Given the description of an element on the screen output the (x, y) to click on. 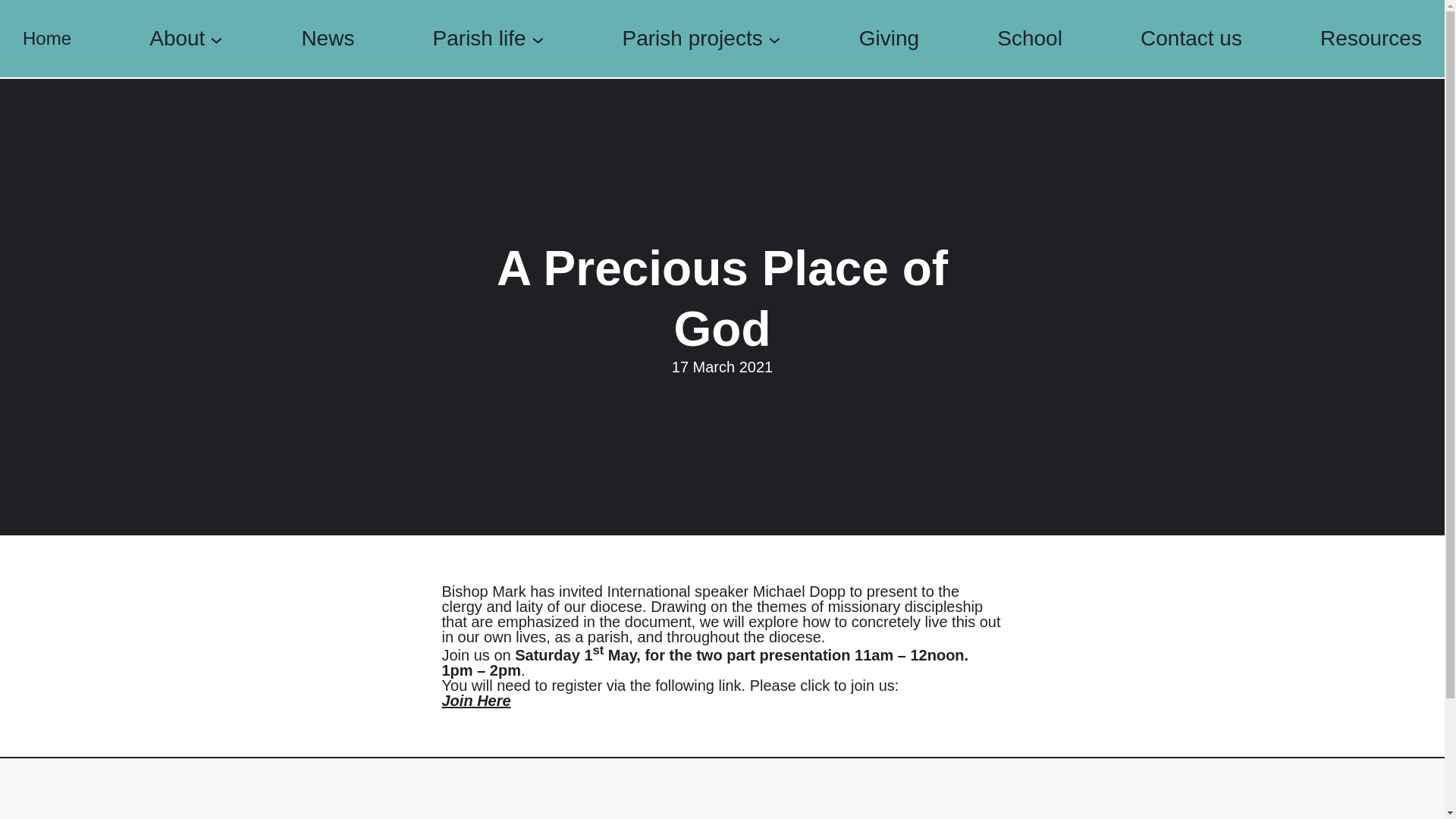
Join Here (476, 700)
About (177, 38)
Home (47, 38)
School (1029, 38)
Parish projects (691, 38)
News (327, 38)
Parish life (478, 38)
Contact us (1190, 38)
Giving (888, 38)
Resources (1371, 38)
